Given the description of an element on the screen output the (x, y) to click on. 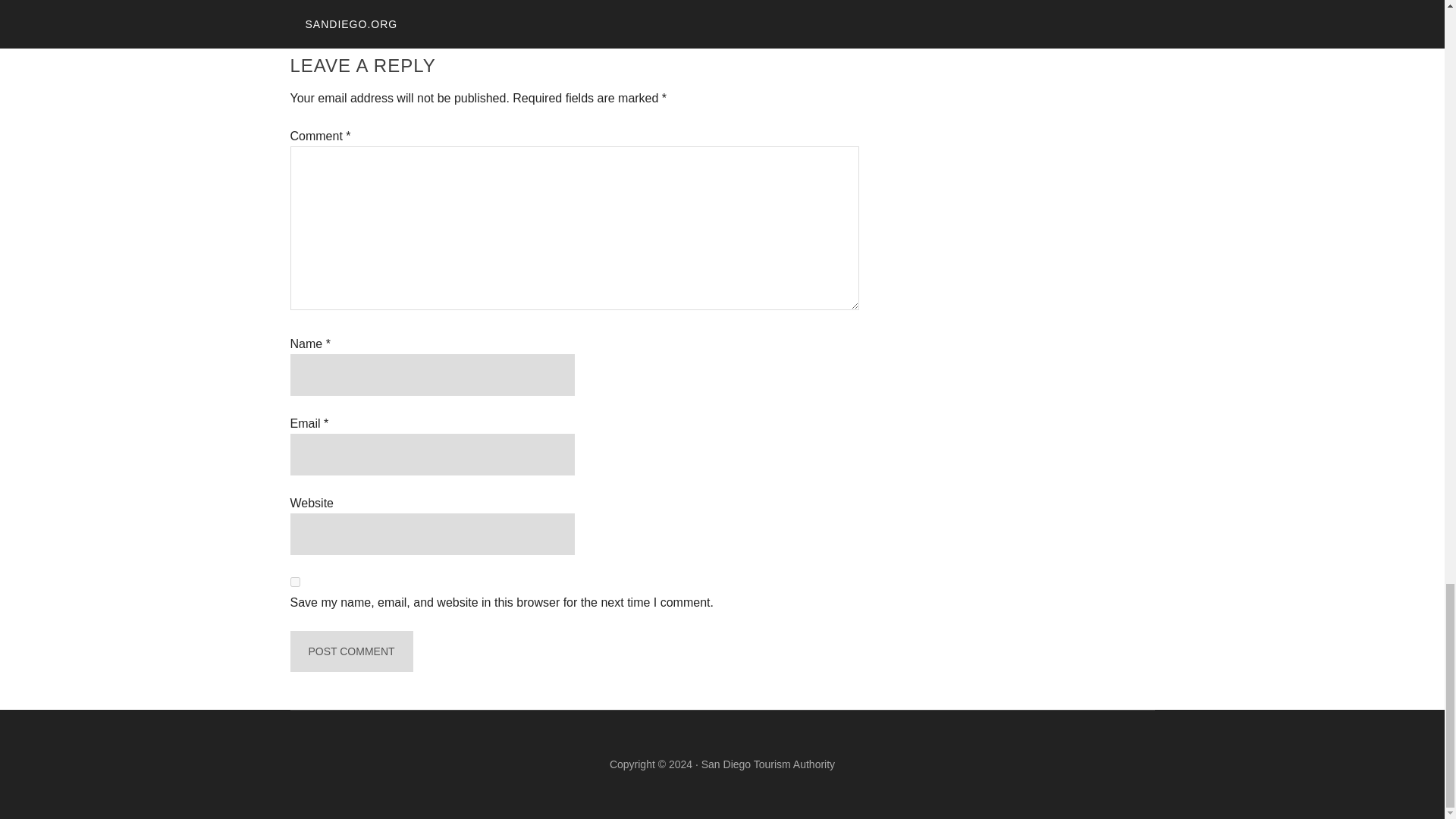
yes (294, 582)
Post Comment (350, 651)
Post Comment (350, 651)
